Given the description of an element on the screen output the (x, y) to click on. 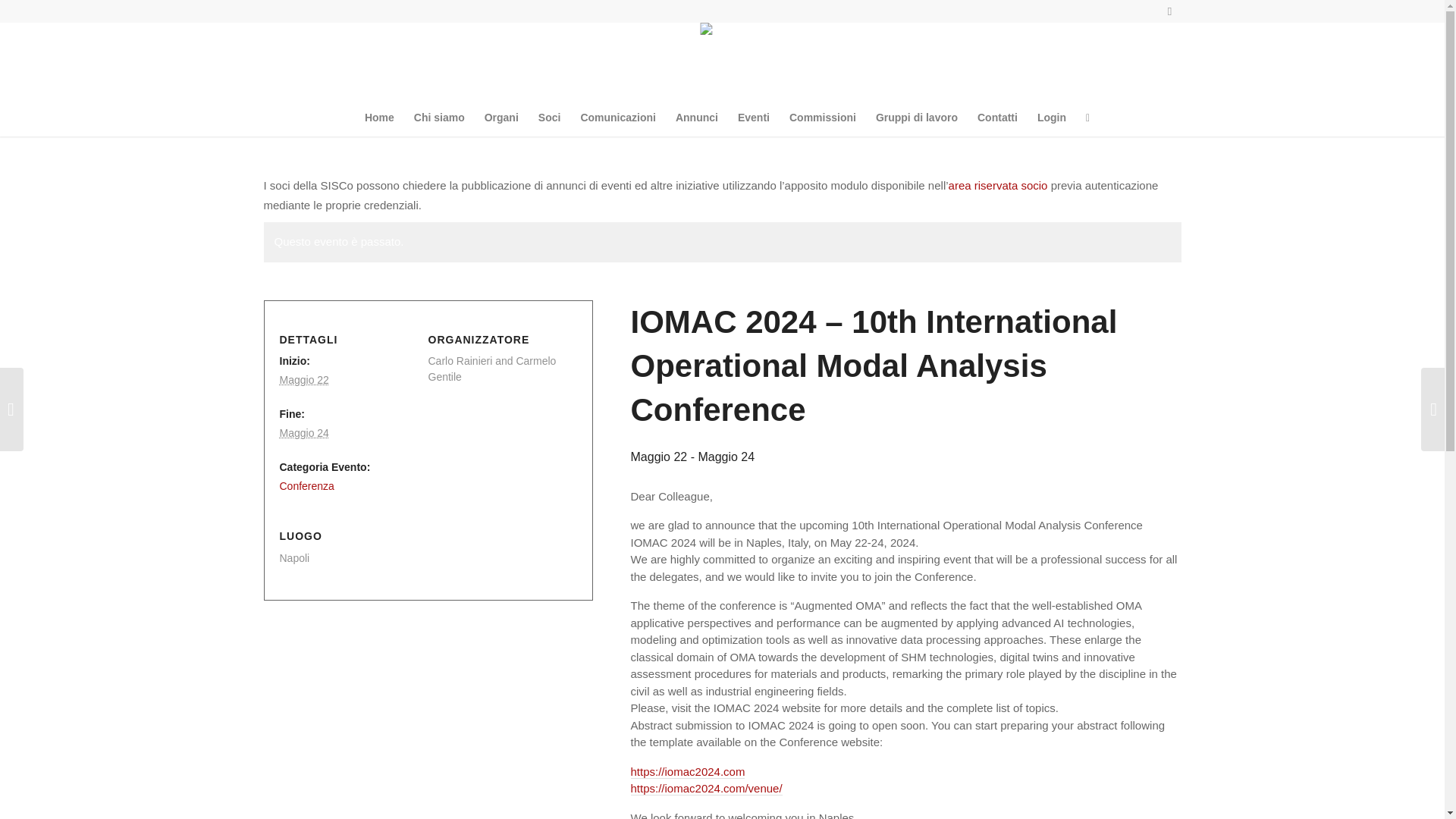
Annunci (696, 117)
Home (379, 117)
2024-05-22 (304, 379)
Commissioni (822, 117)
Chi siamo (439, 117)
Mail (1169, 11)
Organi (501, 117)
Soci (549, 117)
Comunicazioni (617, 117)
Eventi (753, 117)
